Given the description of an element on the screen output the (x, y) to click on. 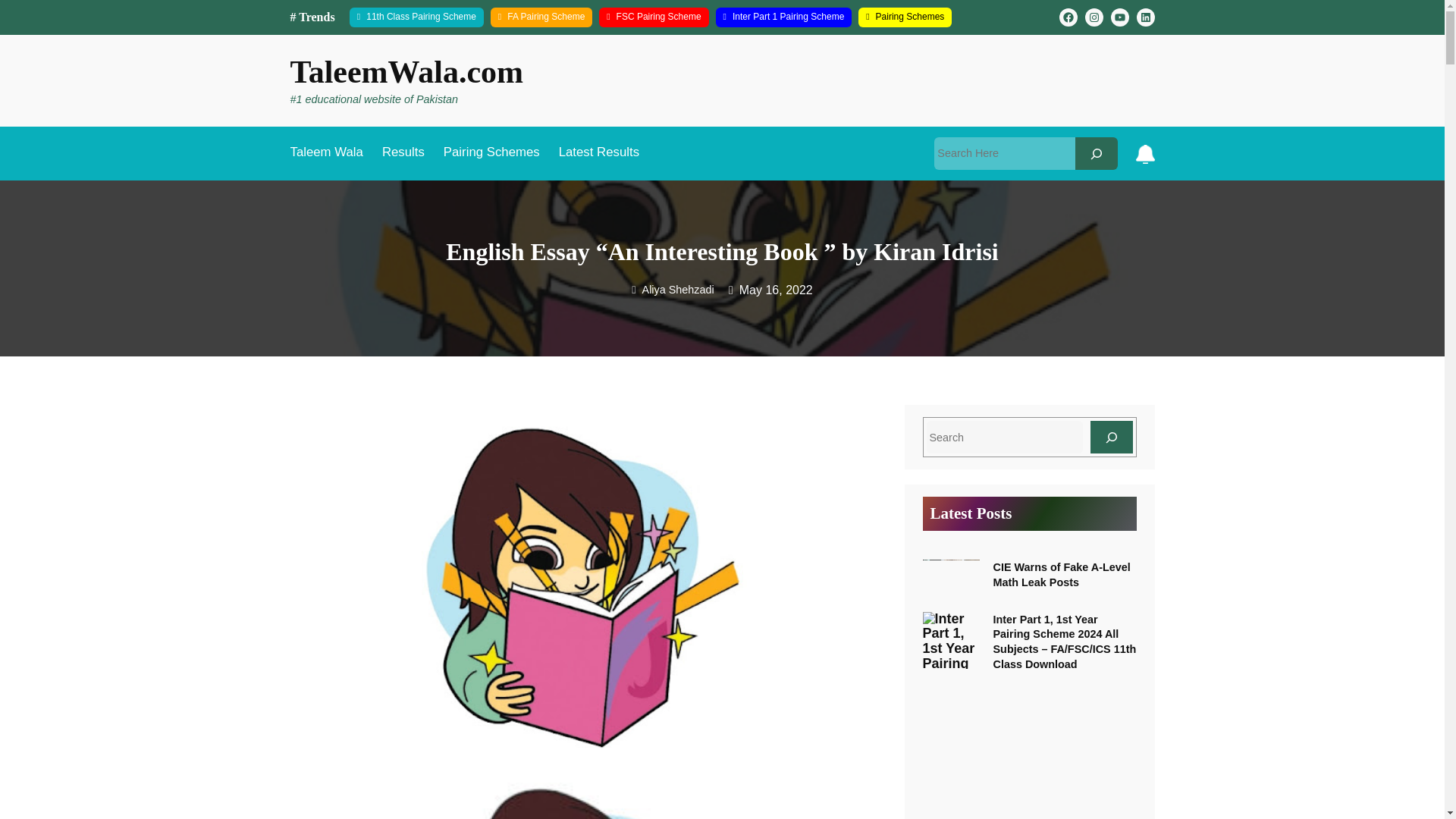
TaleemWala.com (405, 71)
LinkedIn (1144, 17)
Inter Part 1 Pairing Scheme (783, 17)
Pairing Schemes (905, 17)
CIE Warns of Fake A-Level Math Leak Posts (1061, 574)
11th Class Pairing Scheme (416, 17)
English Essay "An Interesting Book " by Kiran Idrisi (582, 794)
FSC Pairing Scheme (652, 17)
Aliya Shehzadi (672, 289)
YouTube (1118, 17)
Pairing Schemes (492, 153)
Latest Results (599, 153)
Taleem Wala (325, 153)
May 16, 2022 (775, 289)
Results (403, 153)
